Given the description of an element on the screen output the (x, y) to click on. 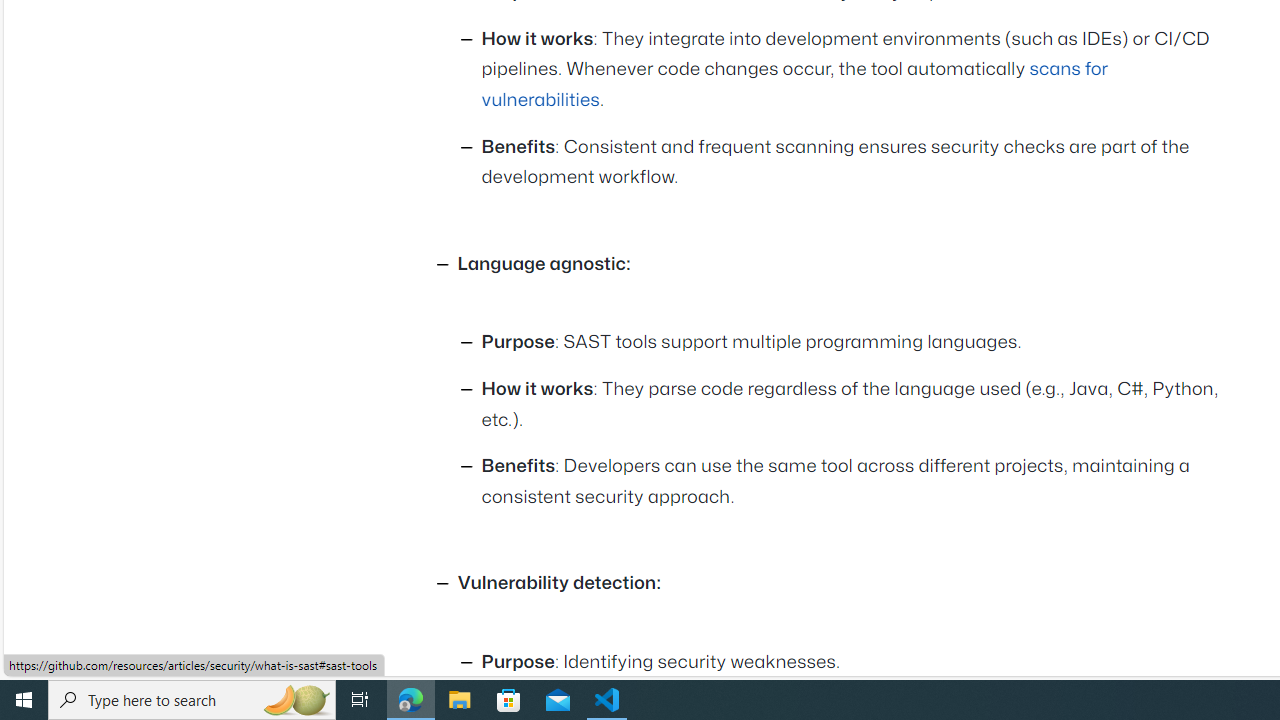
Purpose: Identifying security weaknesses. (855, 662)
Purpose: SAST tools support multiple programming languages. (855, 343)
scans for vulnerabilities (794, 84)
